Given the description of an element on the screen output the (x, y) to click on. 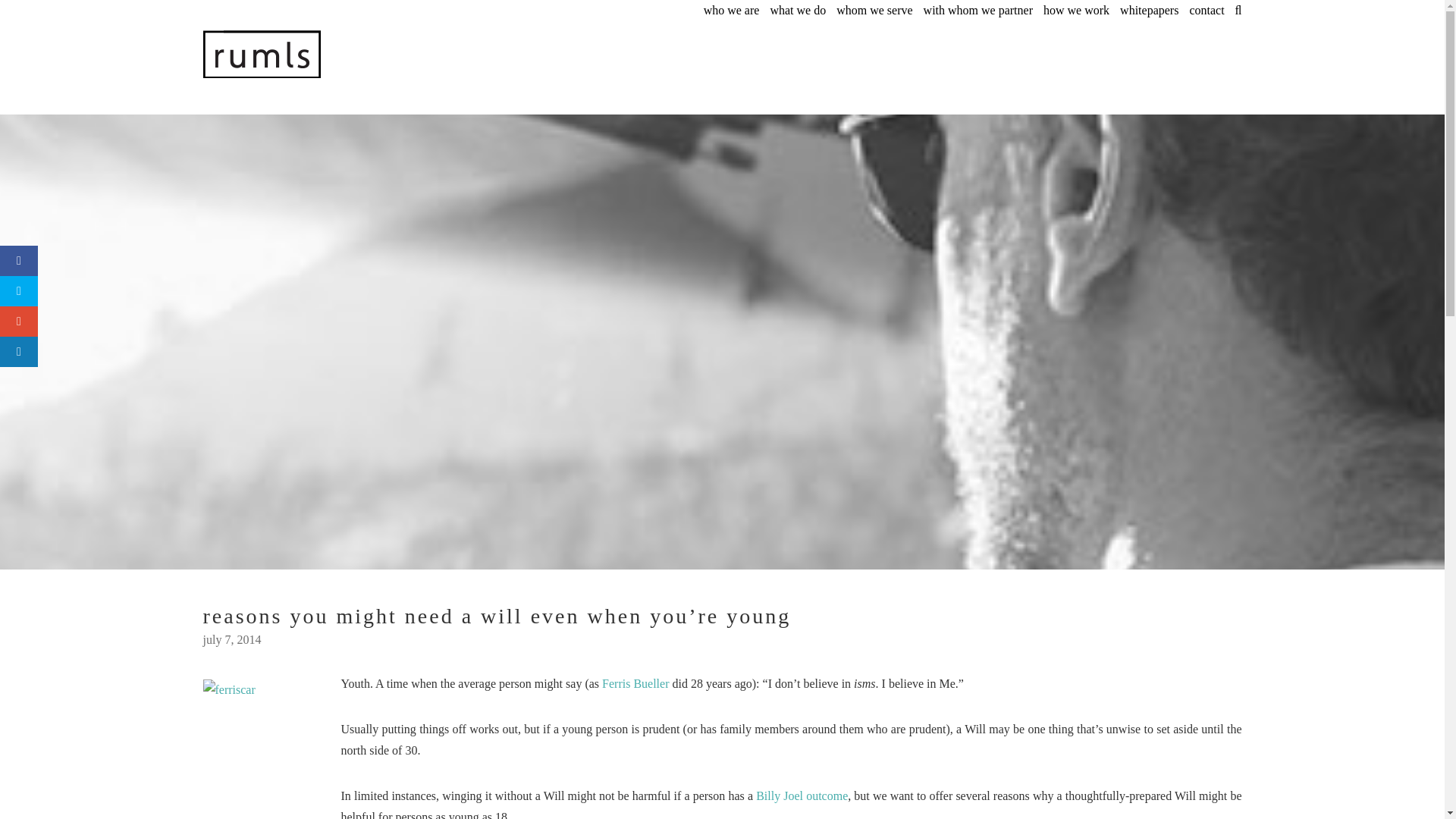
who we are (731, 10)
Billy Joel outcome (801, 795)
whitepapers (1148, 10)
what we do (797, 10)
contact (1206, 10)
with whom we partner (977, 10)
Rumls PLC (324, 54)
how we work (1076, 10)
whom we serve (873, 10)
Ferris Bueller (635, 683)
